Given the description of an element on the screen output the (x, y) to click on. 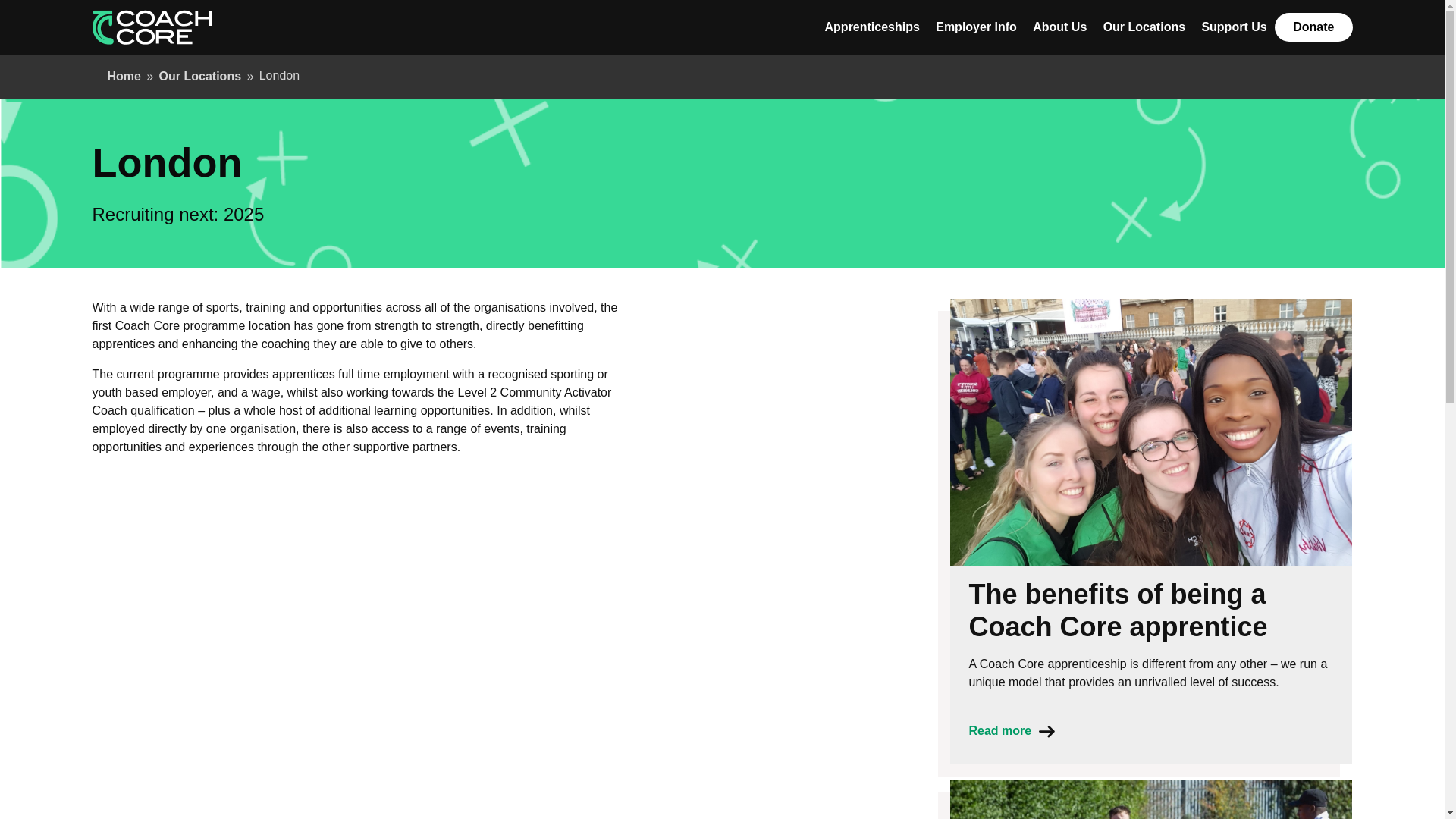
Home (124, 75)
Our Locations (199, 75)
